Given the description of an element on the screen output the (x, y) to click on. 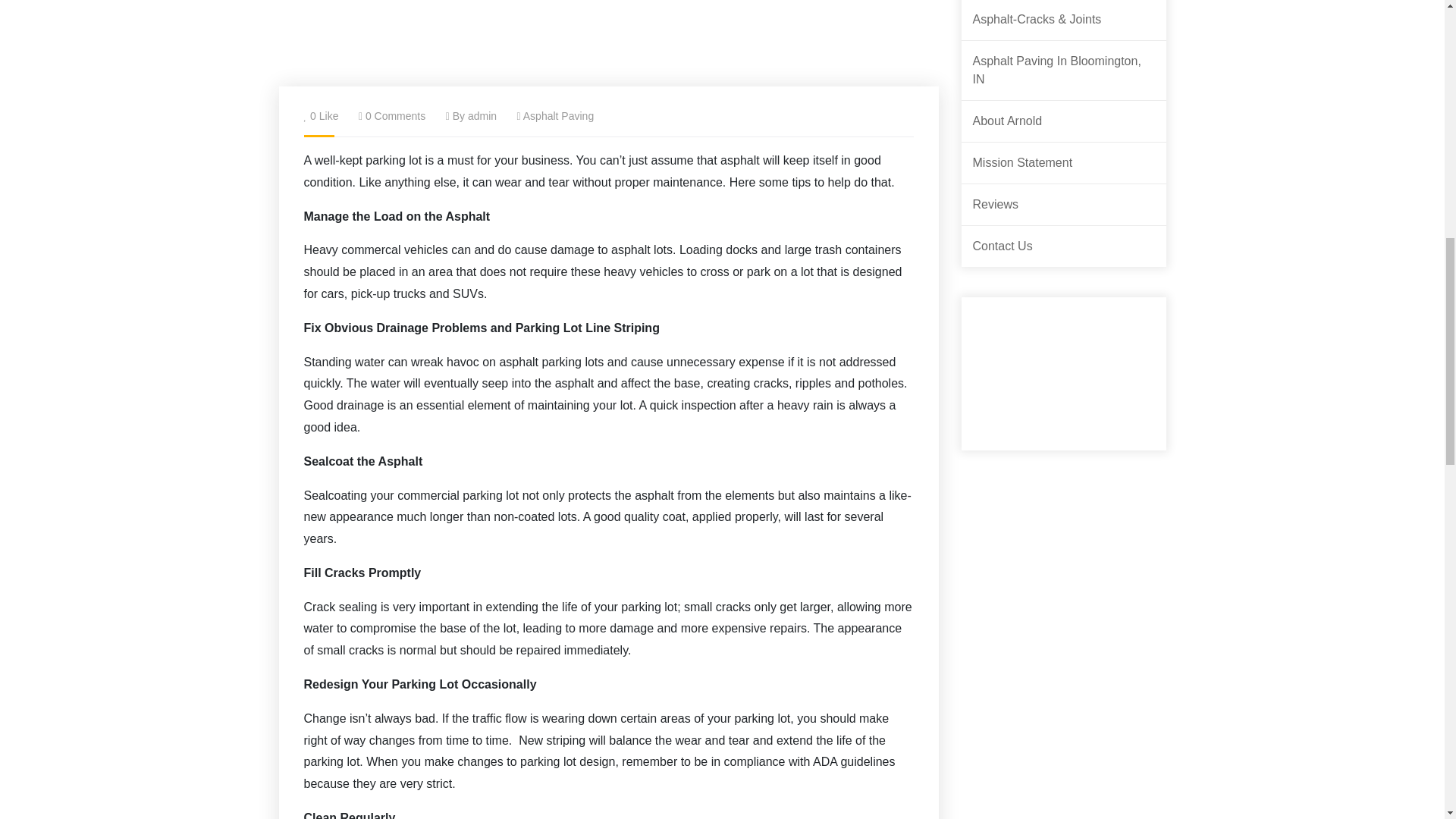
0 Like (323, 115)
Asphalt Paving (558, 115)
Asphalt Paving In Bloomington, IN (1063, 70)
About Arnold (1007, 121)
